Given the description of an element on the screen output the (x, y) to click on. 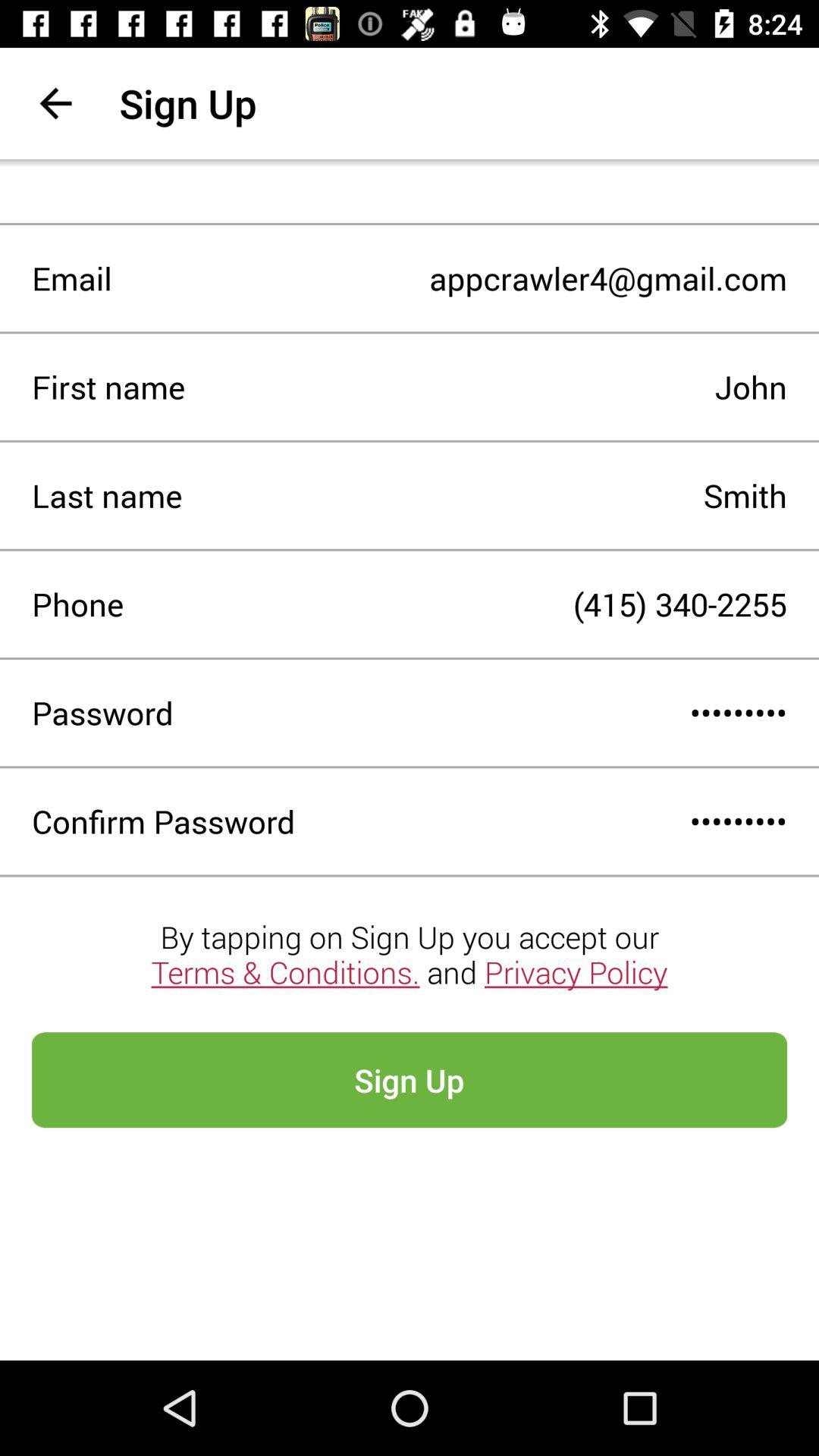
launch the icon to the right of email icon (449, 278)
